Given the description of an element on the screen output the (x, y) to click on. 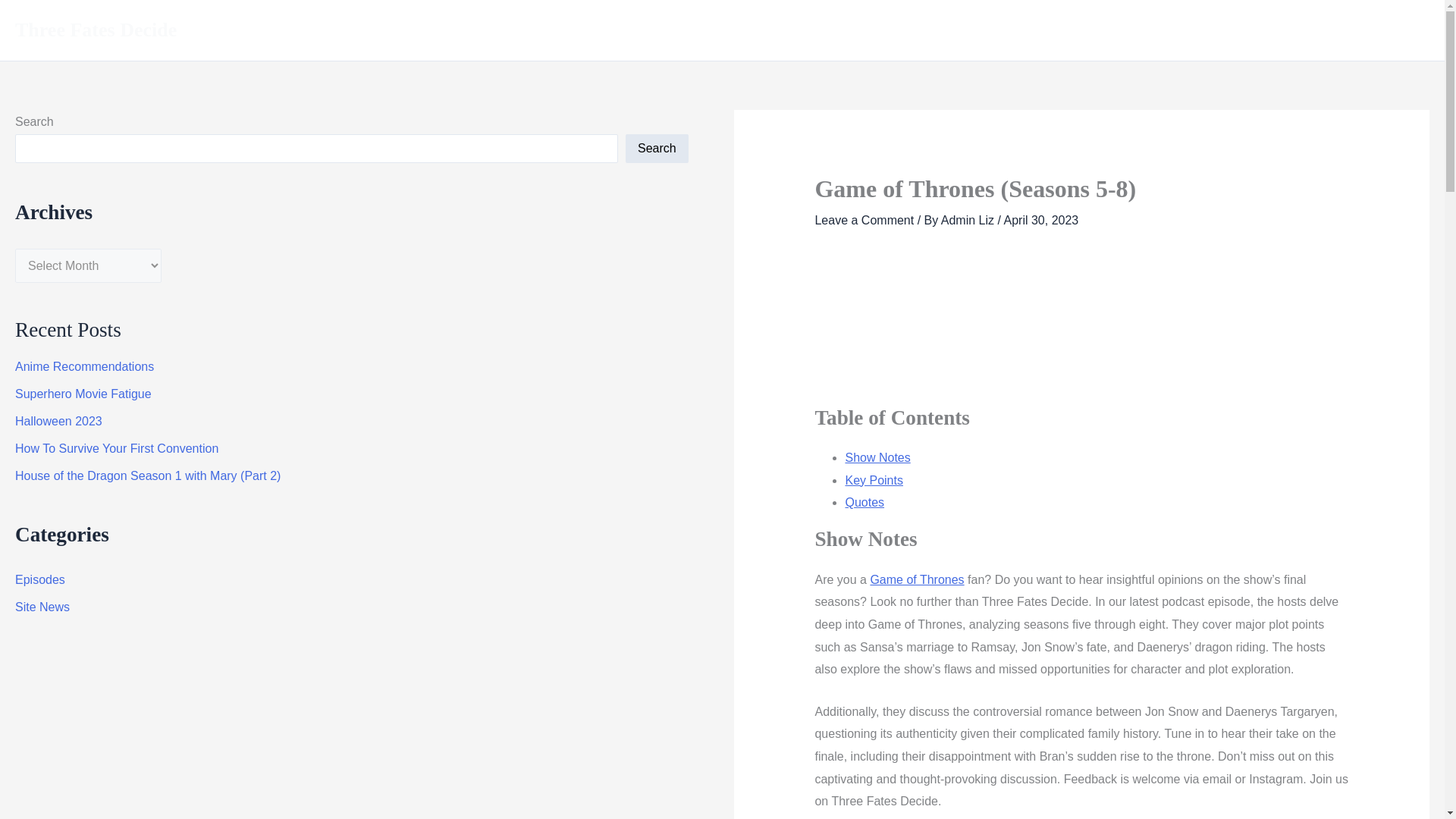
Home (961, 30)
Website Links (1379, 30)
Show Notes (877, 457)
Three Fates Decide (95, 29)
How To Survive Your First Convention (116, 448)
Episodes (39, 579)
Game of Thrones (916, 579)
Quotes (863, 502)
Search (657, 148)
Anime Recommendations (84, 366)
